Given the description of an element on the screen output the (x, y) to click on. 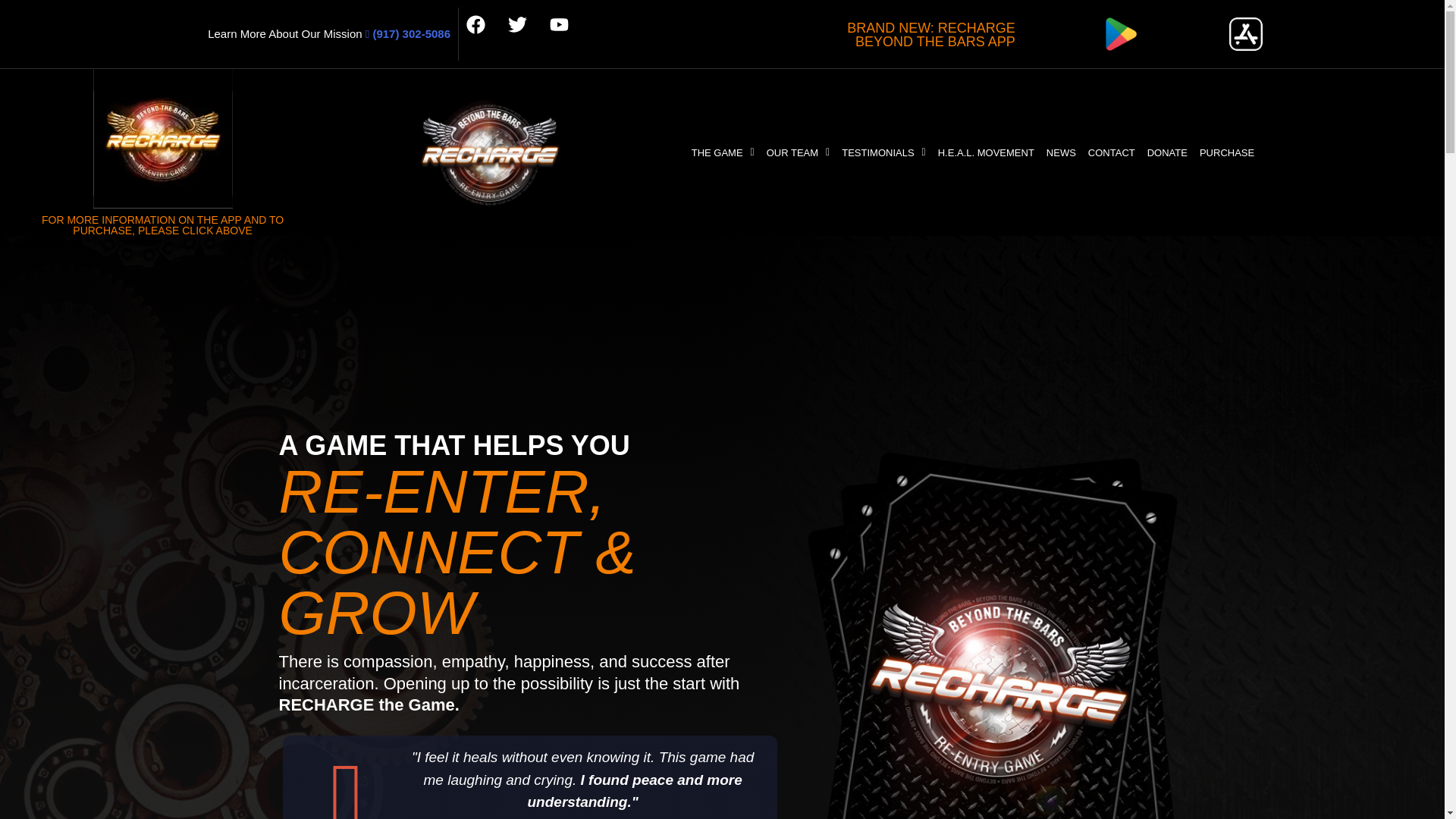
PURCHASE (1226, 152)
CONTACT (1111, 152)
OUR TEAM (797, 152)
THE GAME (722, 152)
NEWS (1061, 152)
H.E.A.L. MOVEMENT (986, 152)
TESTIMONIALS (883, 152)
DONATE (1167, 152)
